Given the description of an element on the screen output the (x, y) to click on. 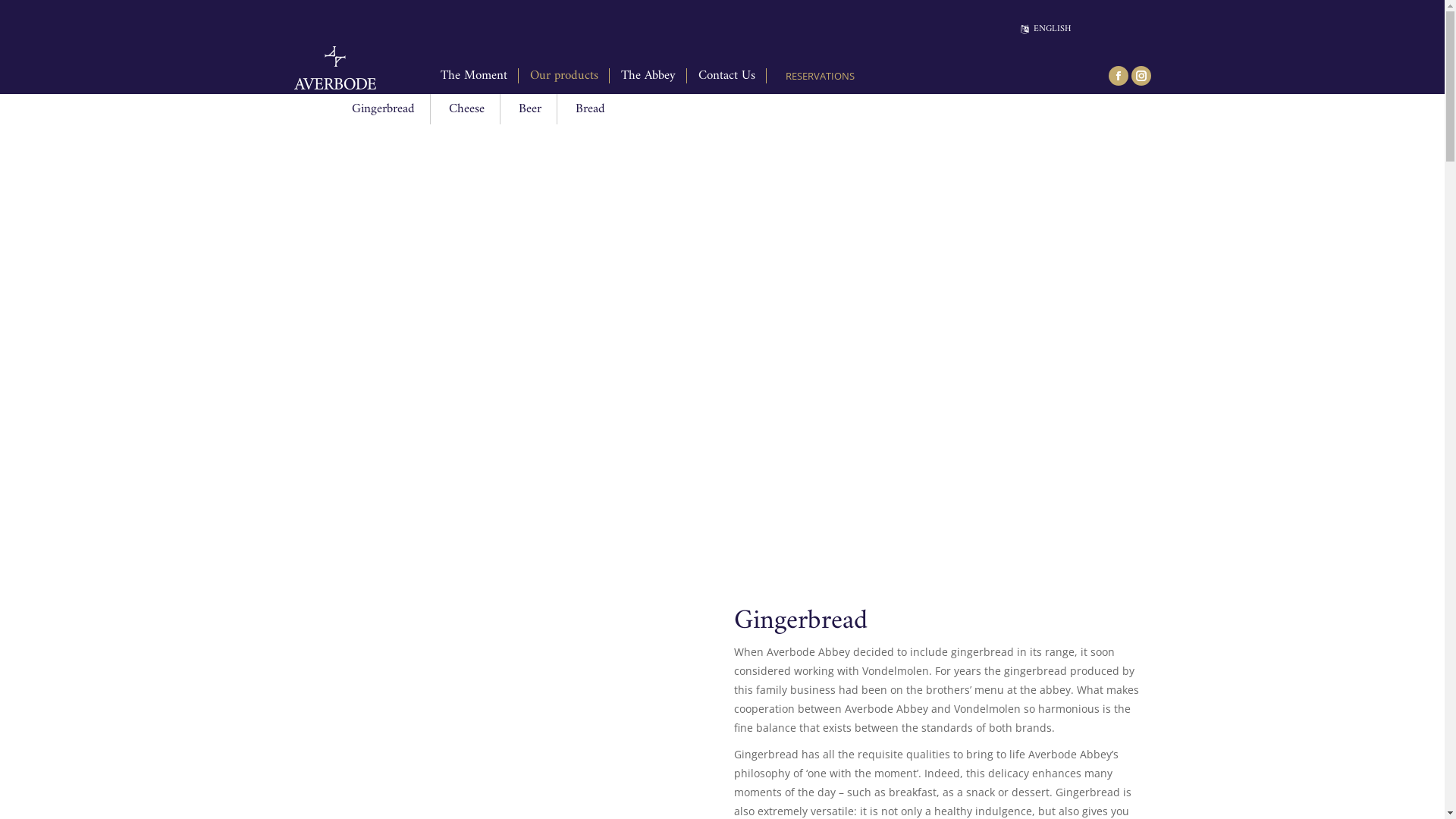
The Abbey Element type: text (647, 76)
RESERVATIONS Element type: text (816, 76)
Gingerbread Element type: text (383, 109)
Our products Element type: text (563, 76)
Contact Us Element type: text (725, 76)
Cheese Element type: text (466, 109)
Beer Element type: text (530, 109)
Facebook page opens in new window Element type: text (1118, 74)
Bread Element type: text (590, 109)
The Moment Element type: text (472, 76)
Instagram page opens in new window Element type: text (1141, 74)
